Given the description of an element on the screen output the (x, y) to click on. 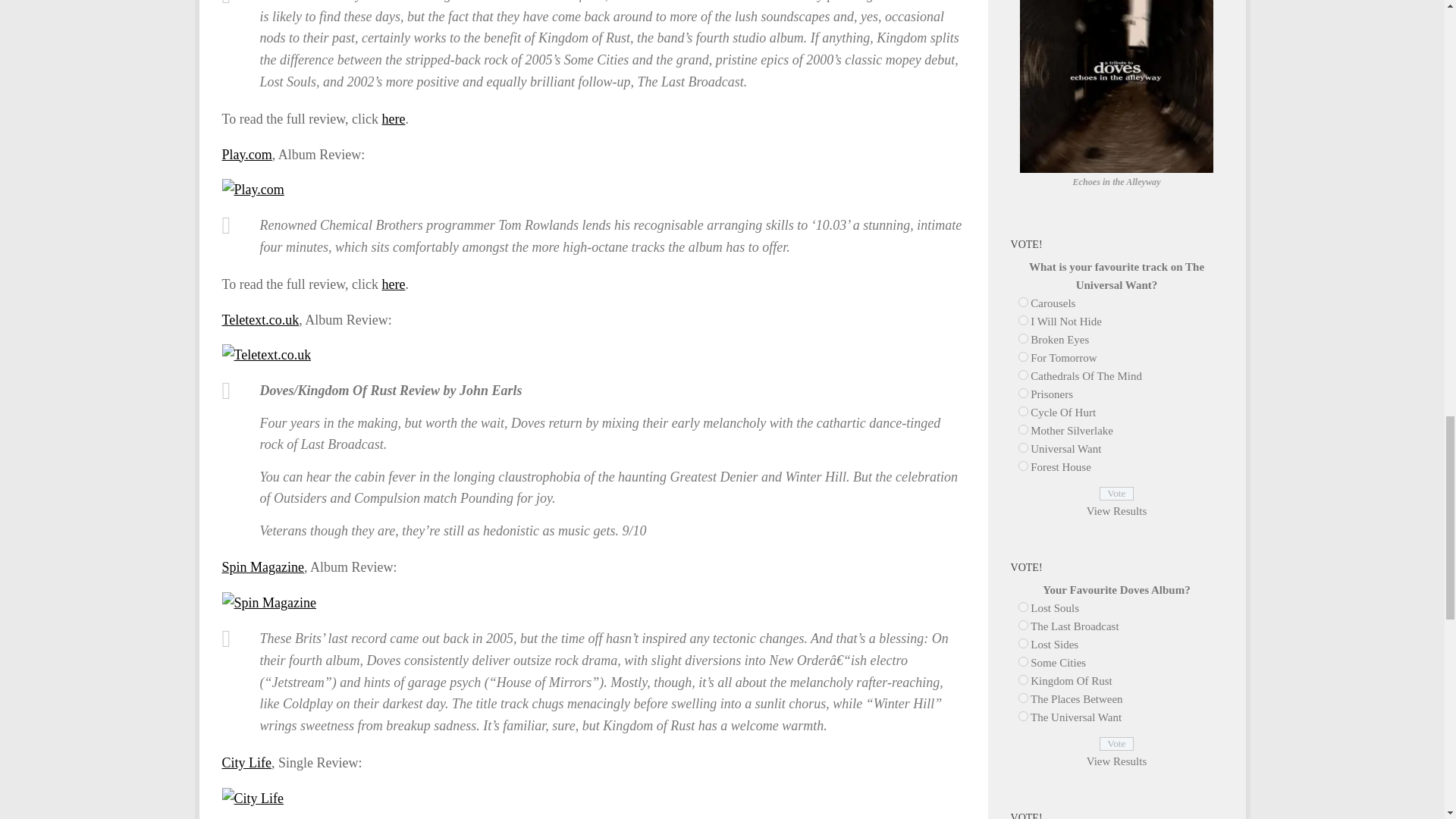
View Results Of This Poll (1116, 510)
   Vote    (1116, 493)
9 (1022, 661)
View Results Of This Poll (1116, 761)
49 (1022, 393)
10 (1022, 679)
54 (1022, 716)
46 (1022, 338)
8 (1022, 643)
48 (1022, 375)
45 (1022, 320)
7 (1022, 624)
47 (1022, 356)
51 (1022, 429)
50 (1022, 411)
